Given the description of an element on the screen output the (x, y) to click on. 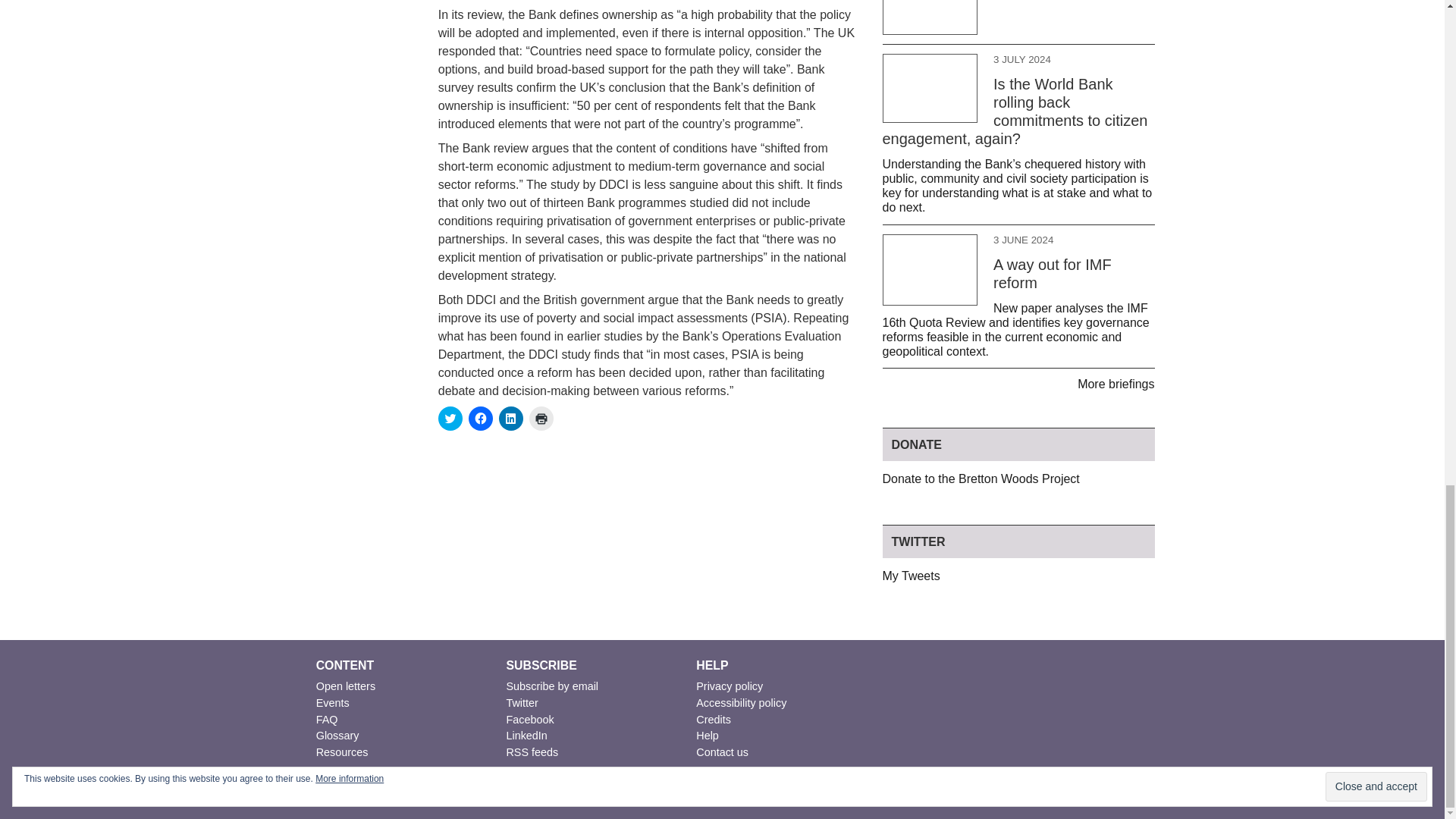
Click to share on LinkedIn (510, 418)
Click to print (541, 418)
Click to share on Twitter (450, 418)
Click to share on Facebook (480, 418)
